Given the description of an element on the screen output the (x, y) to click on. 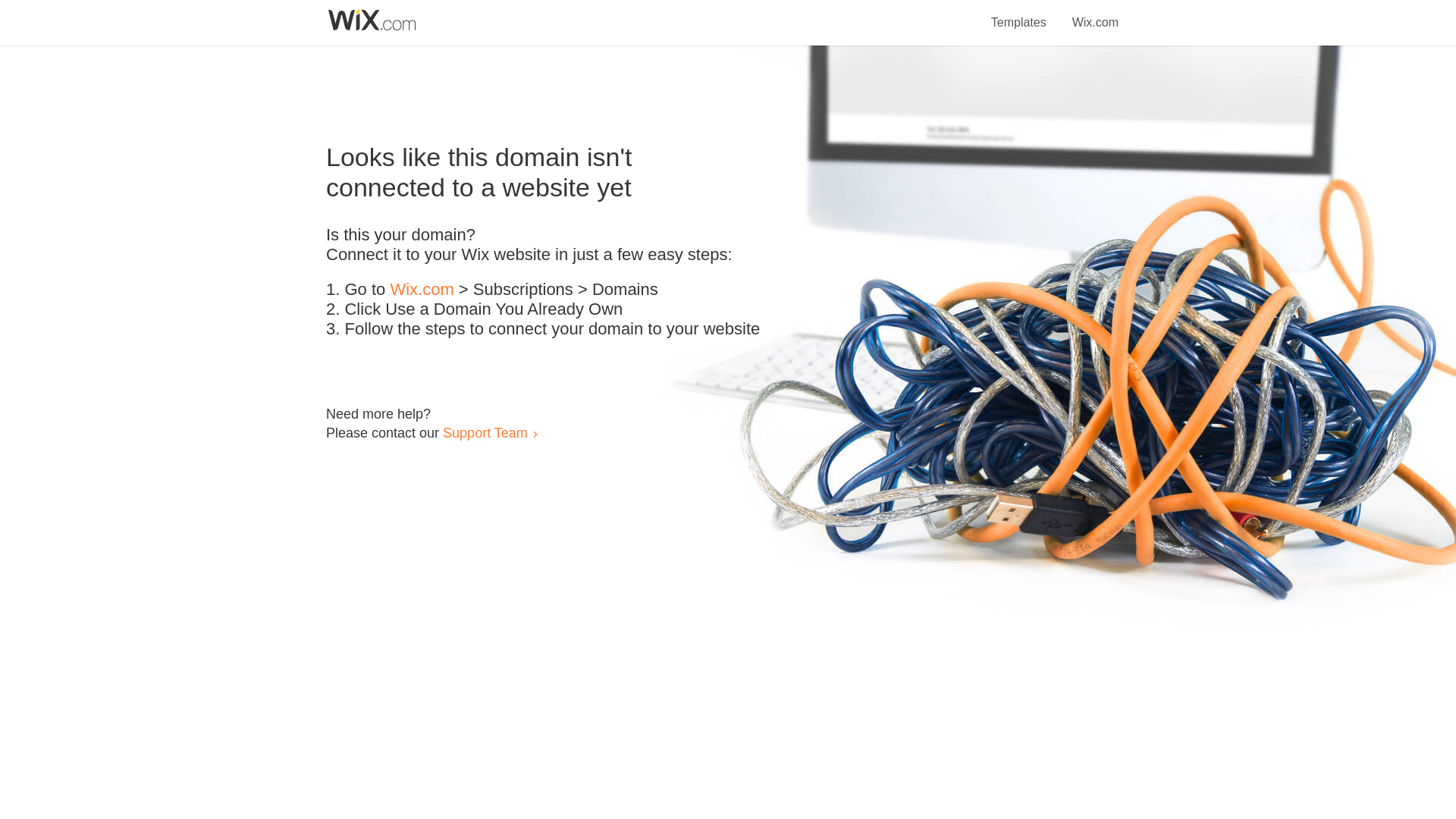
Templates (1018, 14)
Wix.com (1095, 14)
Support Team (484, 432)
Wix.com (421, 289)
